Given the description of an element on the screen output the (x, y) to click on. 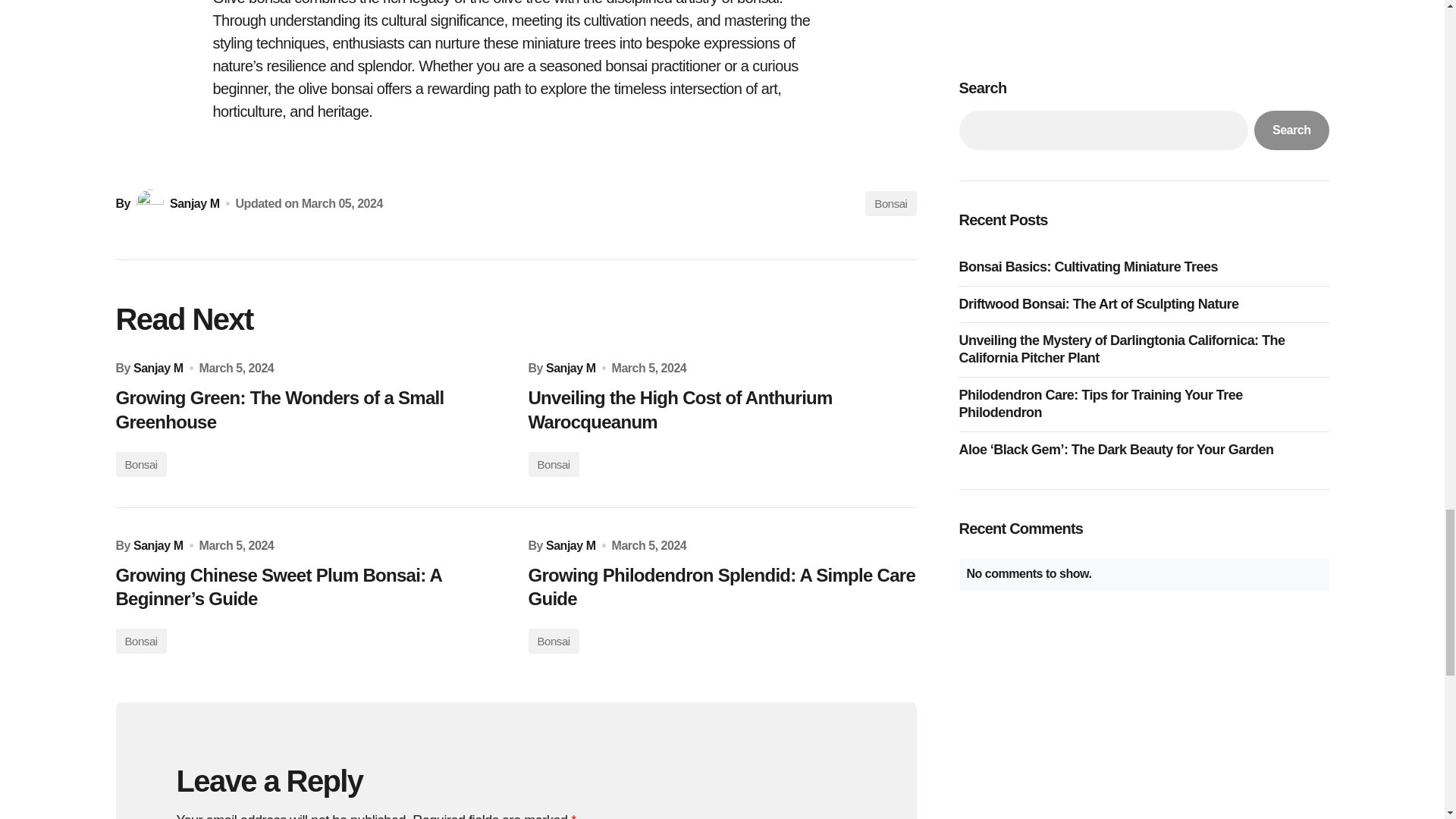
Growing Green: The Wonders of a Small Greenhouse (309, 409)
Growing Philodendron Splendid: A Simple Care Guide (721, 586)
Sanjay M (570, 368)
Bonsai (140, 464)
Unveiling the High Cost of Anthurium Warocqueanum (721, 409)
Sanjay M (158, 545)
Bonsai (140, 640)
Sanjay M (570, 545)
Sanjay M (158, 368)
Bonsai (889, 203)
